Given the description of an element on the screen output the (x, y) to click on. 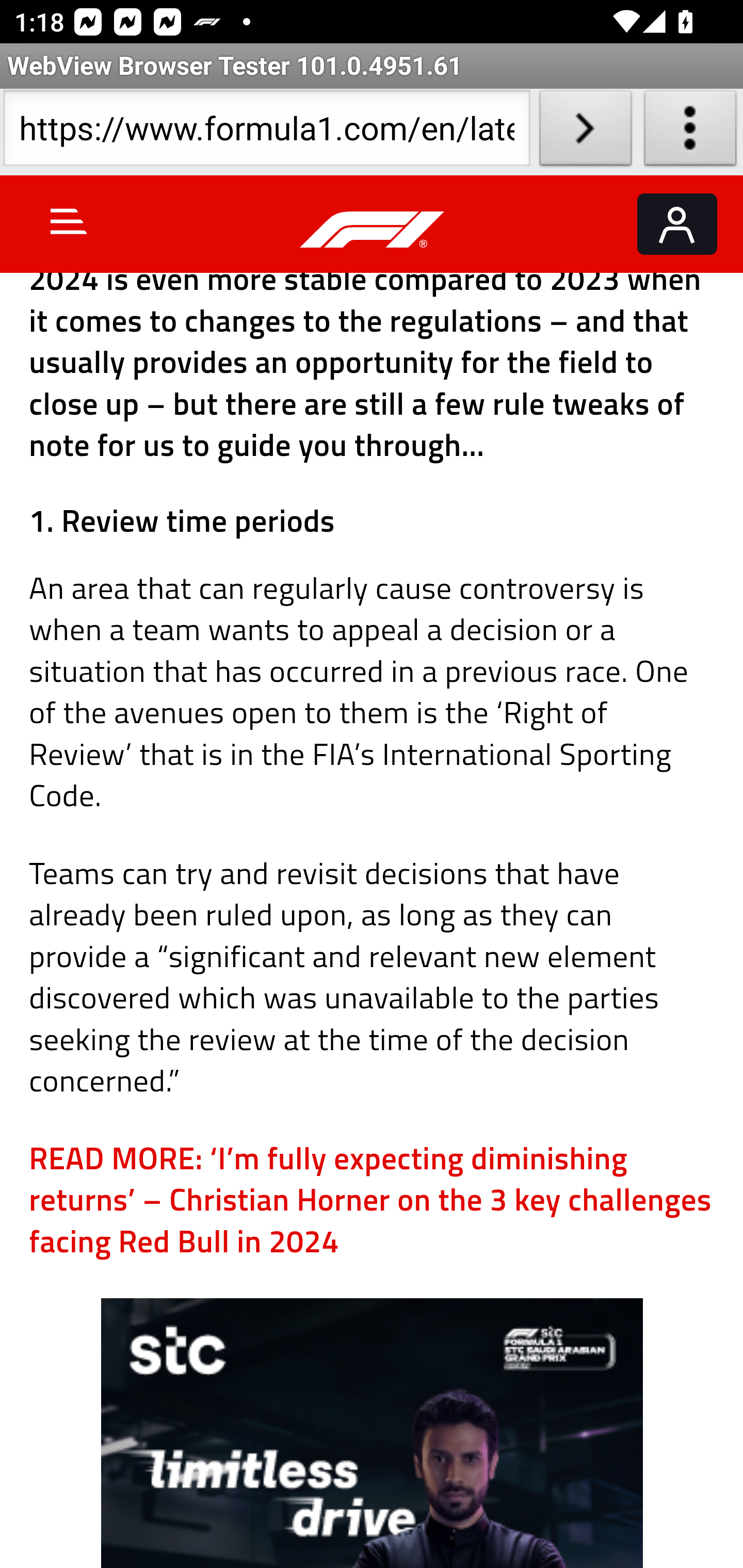
Load URL (585, 132)
About WebView (690, 132)
Toggle Menu (68, 221)
Formula 1 (372, 231)
 Login/Register  Login/Register (677, 224)
who-we-are (372, 1433)
